Given the description of an element on the screen output the (x, y) to click on. 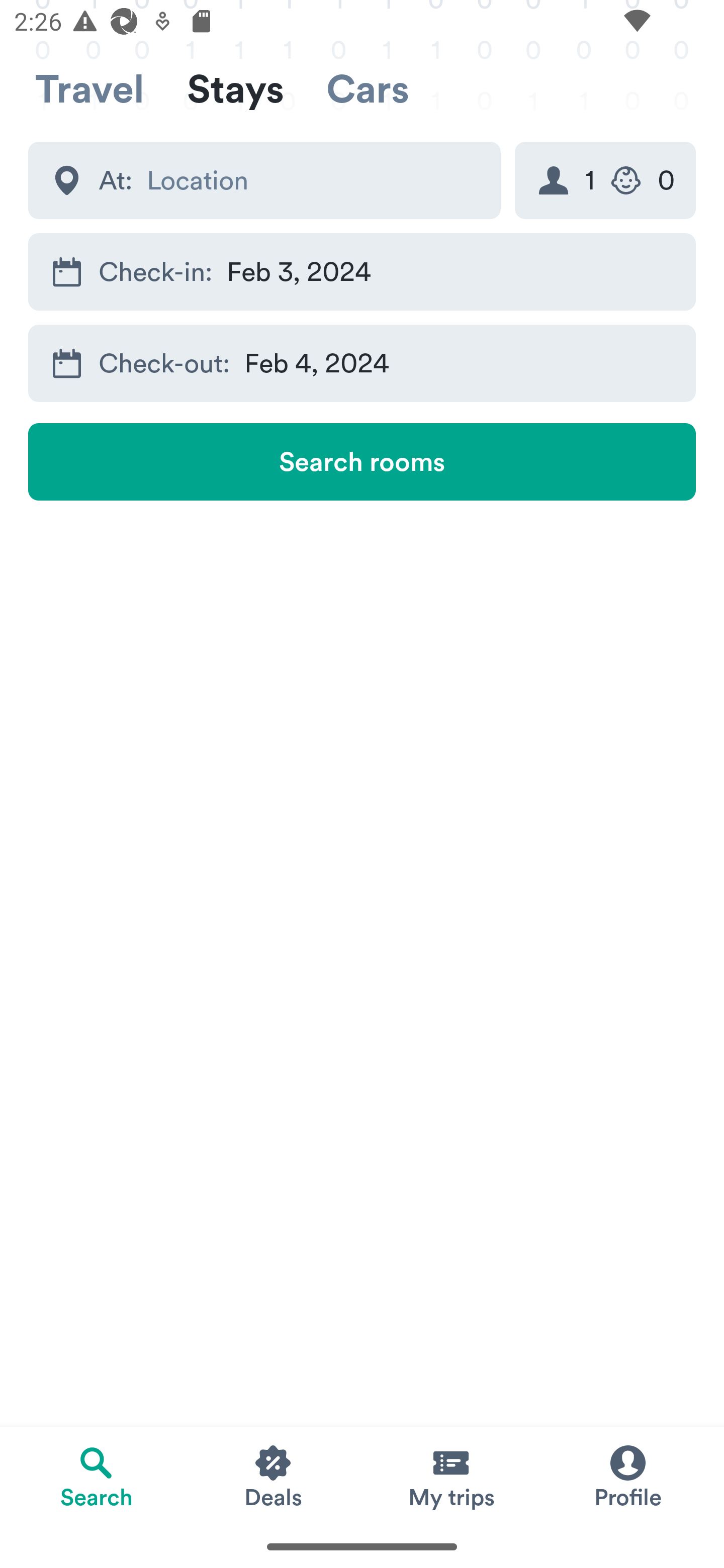
Travel (89, 89)
Stays (235, 89)
Cars (367, 89)
At: (264, 179)
1 0 (604, 179)
Check-in: Feb 3, 2024 (361, 270)
Check-out: Feb 4, 2024 (361, 363)
Search rooms (361, 461)
Deals (273, 1475)
My trips (450, 1475)
Profile (627, 1475)
